Given the description of an element on the screen output the (x, y) to click on. 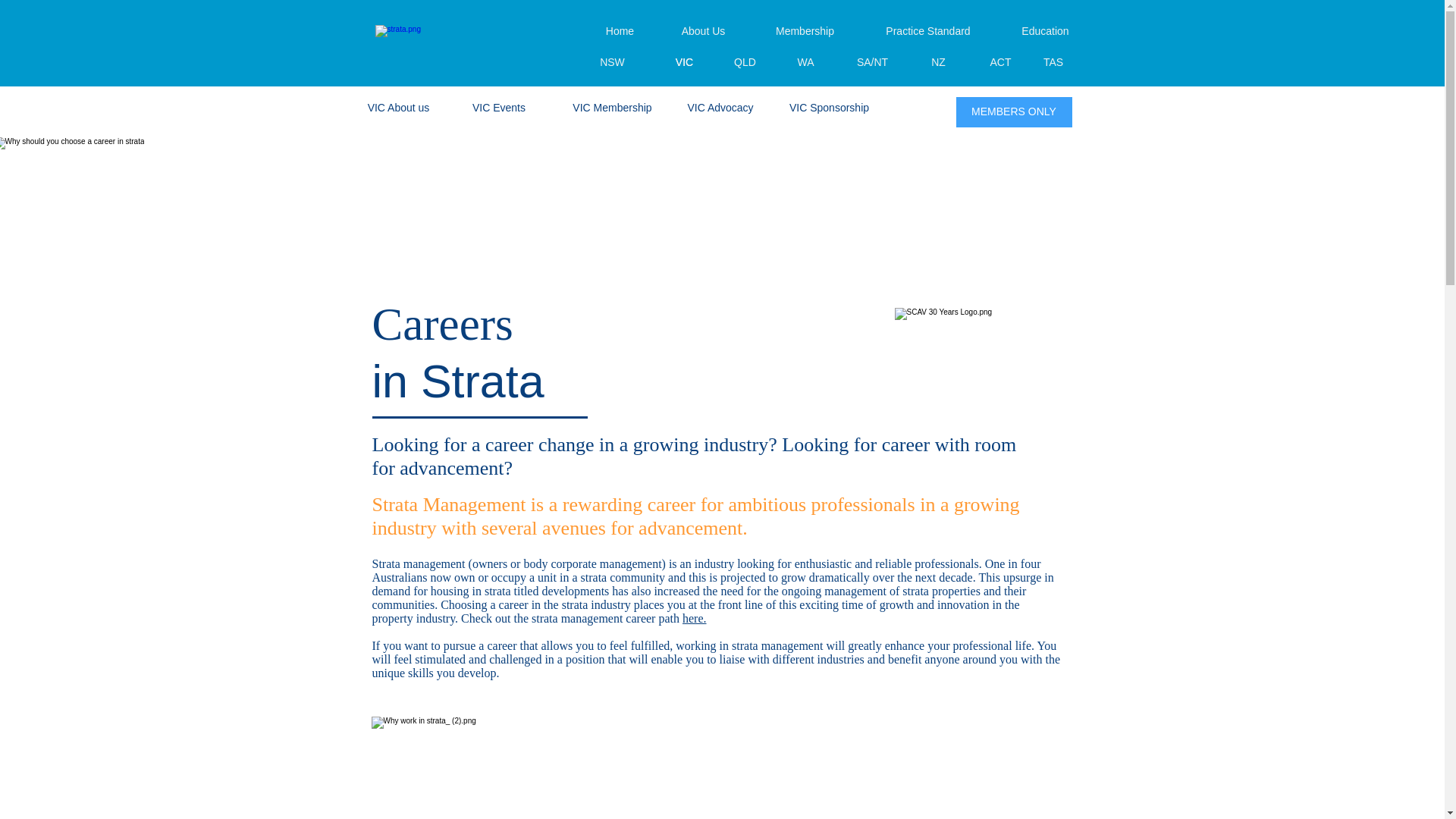
VIC (684, 62)
Practice Standard (928, 31)
VIC About us (397, 108)
VIC Sponsorship (828, 108)
VIC Membership (612, 108)
Education (1045, 31)
VIC Advocacy (719, 108)
NZ (939, 62)
Home (620, 31)
TAS (1052, 62)
